Given the description of an element on the screen output the (x, y) to click on. 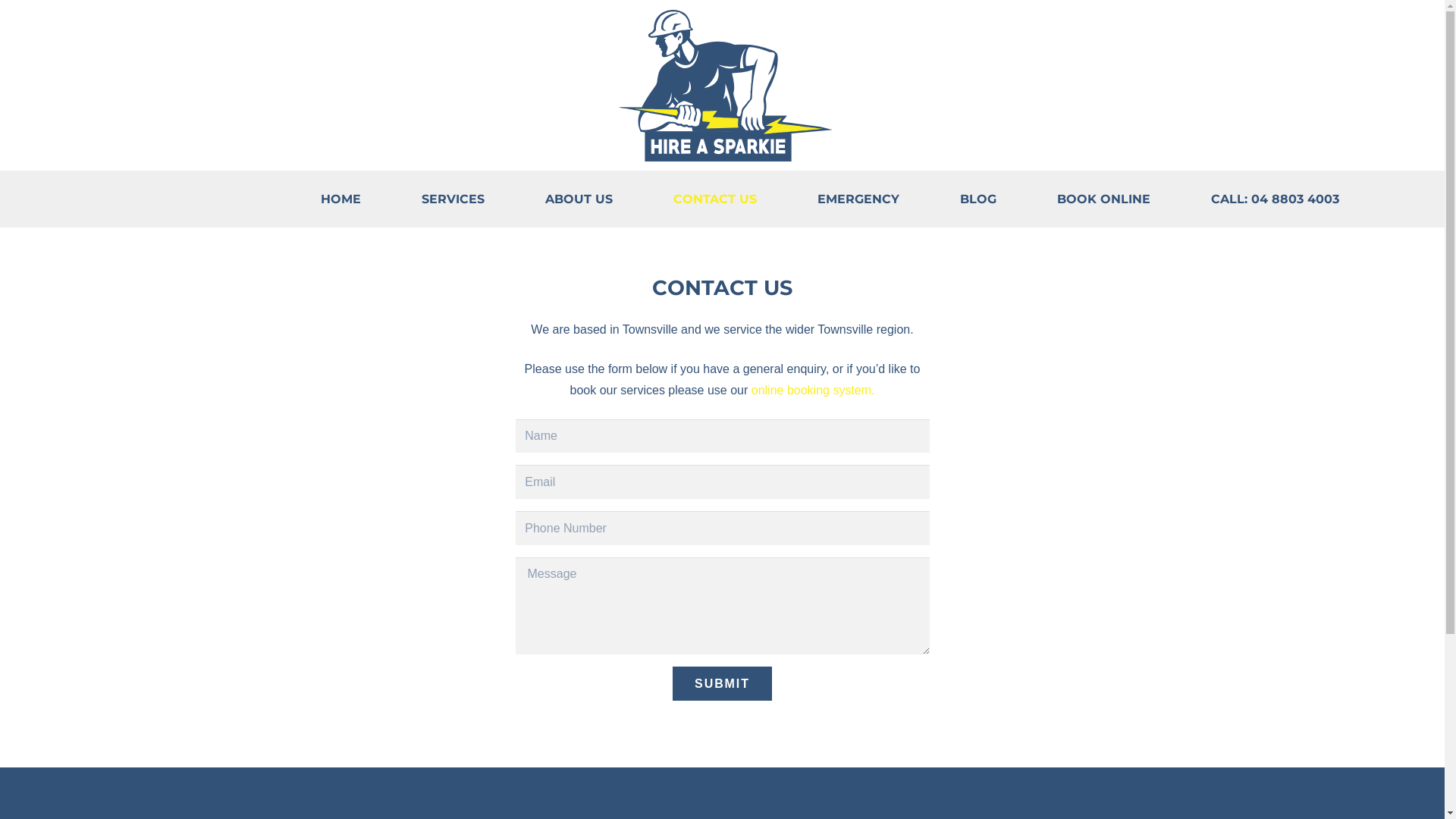
BOOK ONLINE Element type: text (1103, 199)
CONTACT US Element type: text (715, 199)
BLOG Element type: text (977, 199)
SUBMIT Element type: text (721, 683)
EMERGENCY Element type: text (858, 199)
CALL: 04 8803 4003 Element type: text (1273, 199)
HOME Element type: text (339, 199)
online booking system. Element type: text (813, 389)
ABOUT US Element type: text (578, 199)
SERVICES Element type: text (452, 199)
